Given the description of an element on the screen output the (x, y) to click on. 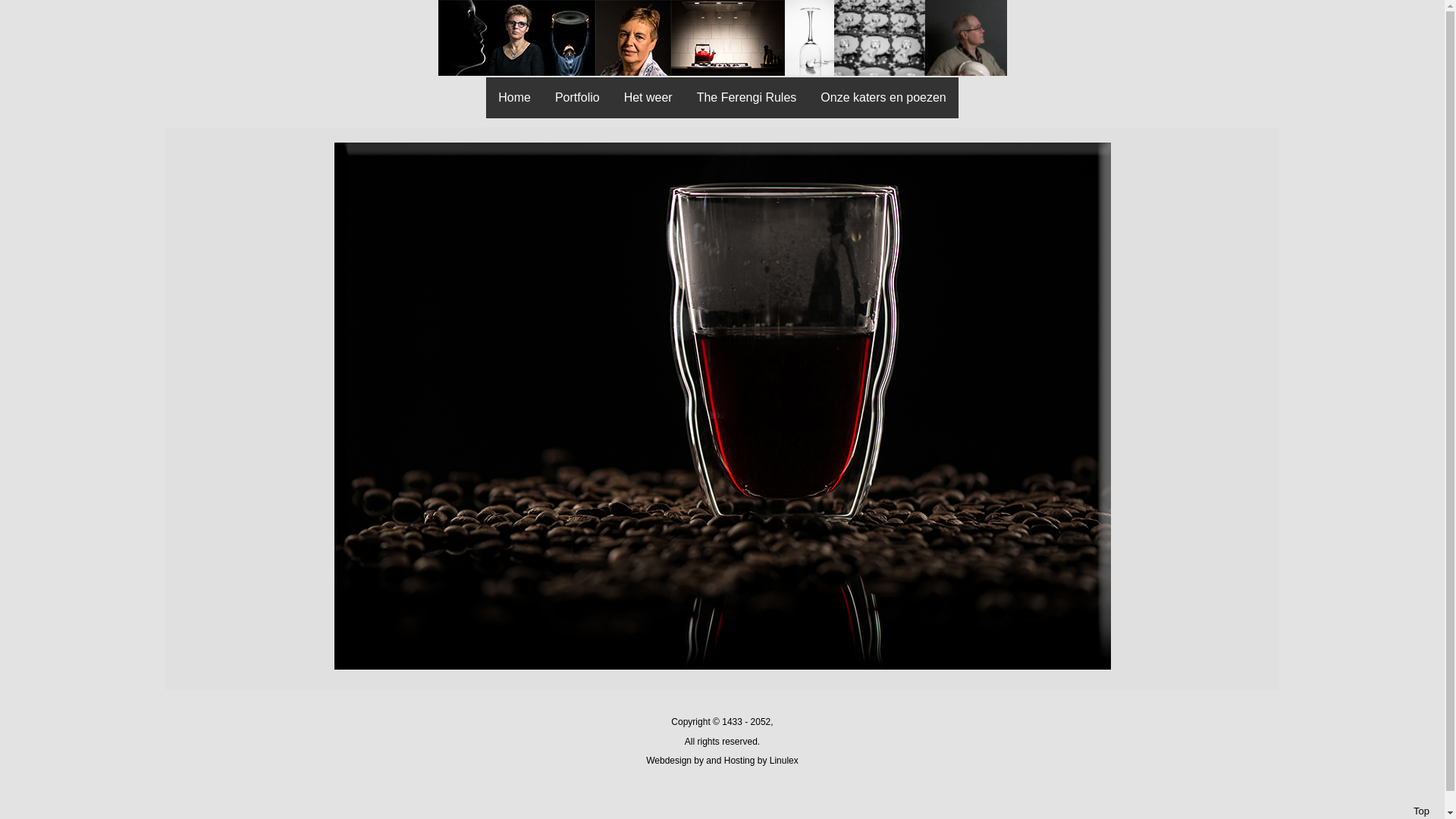
Home Element type: text (514, 97)
Het weer Element type: text (647, 97)
Top Element type: text (1421, 810)
Linulex Element type: text (783, 760)
Onze katers en poezen Element type: text (882, 97)
Portfolio Element type: text (576, 97)
The Ferengi Rules Element type: text (746, 97)
